Given the description of an element on the screen output the (x, y) to click on. 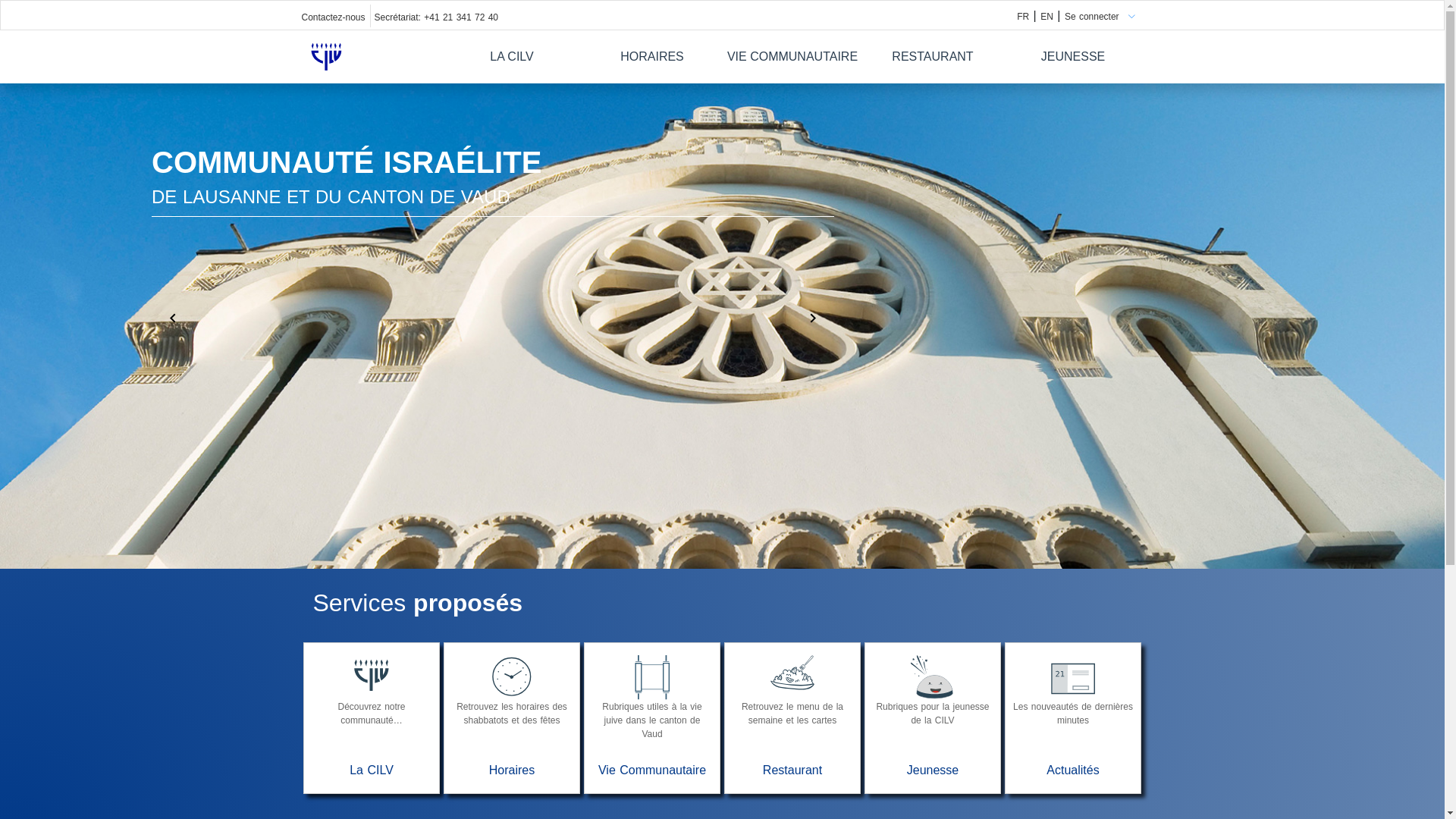
Arrow Right Element type: text (812, 316)
Restaurant
Retrouvez le menu de la semaine et les cartes Element type: text (792, 729)
FR Element type: text (1022, 16)
EN Element type: text (1046, 16)
Se connecter Element type: text (1091, 16)
JEUNESSE Element type: text (1072, 56)
HORAIRES Element type: text (651, 56)
LA CILV Element type: text (511, 56)
VIE COMMUNAUTAIRE Element type: text (792, 56)
Jeunesse
Rubriques pour la jeunesse de la CILV Element type: text (932, 729)
Contactez-nous Element type: text (333, 17)
Arrow Left Element type: text (172, 316)
RESTAURANT Element type: text (932, 56)
